Given the description of an element on the screen output the (x, y) to click on. 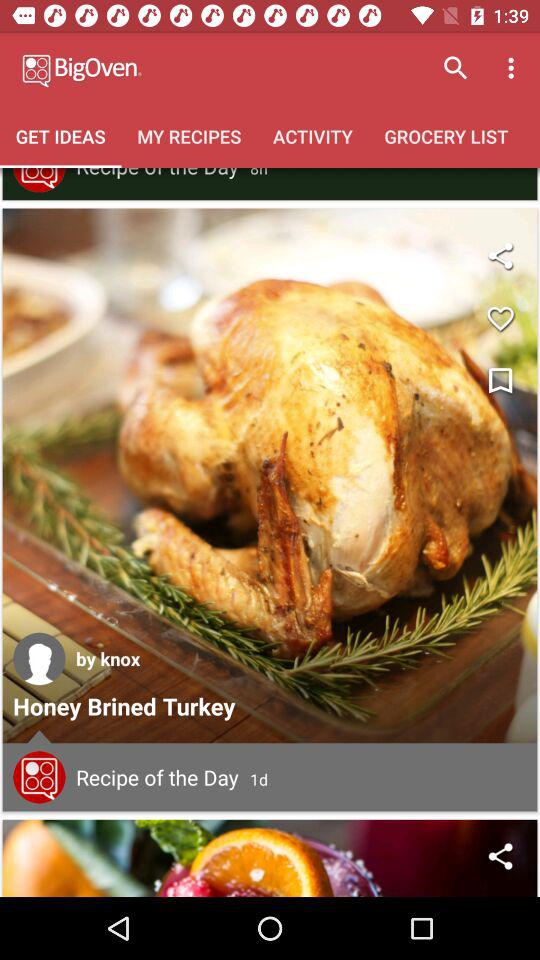
view the honey brined turkey recipe (269, 475)
